Given the description of an element on the screen output the (x, y) to click on. 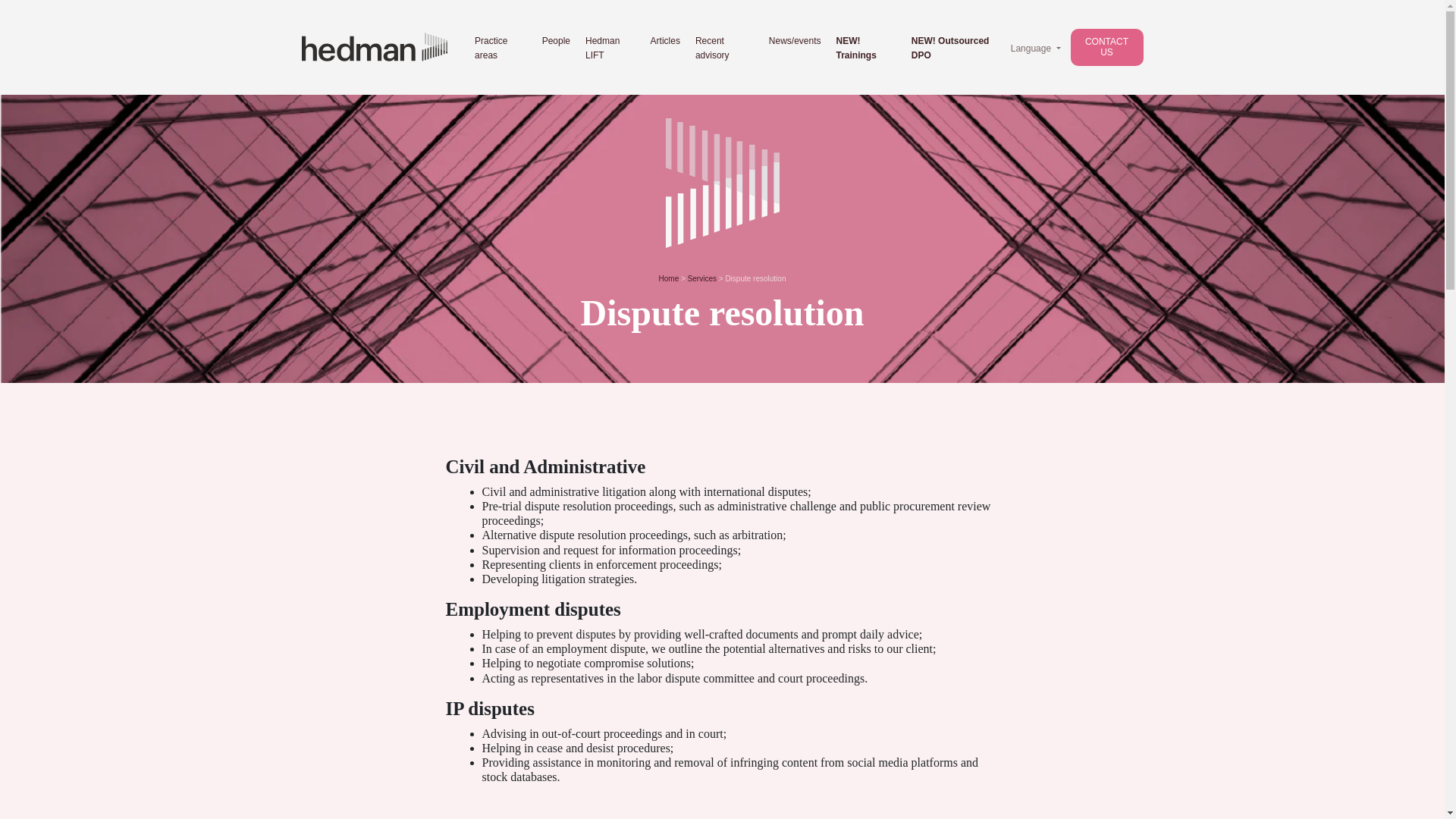
NEW! Outsourced DPO (950, 49)
Services (701, 278)
Hedman LIFT (602, 49)
Practice areas (490, 49)
Home (669, 278)
People (555, 42)
Language (1035, 47)
Recent advisory (712, 49)
CONTACT US (1106, 47)
Articles (664, 42)
